Given the description of an element on the screen output the (x, y) to click on. 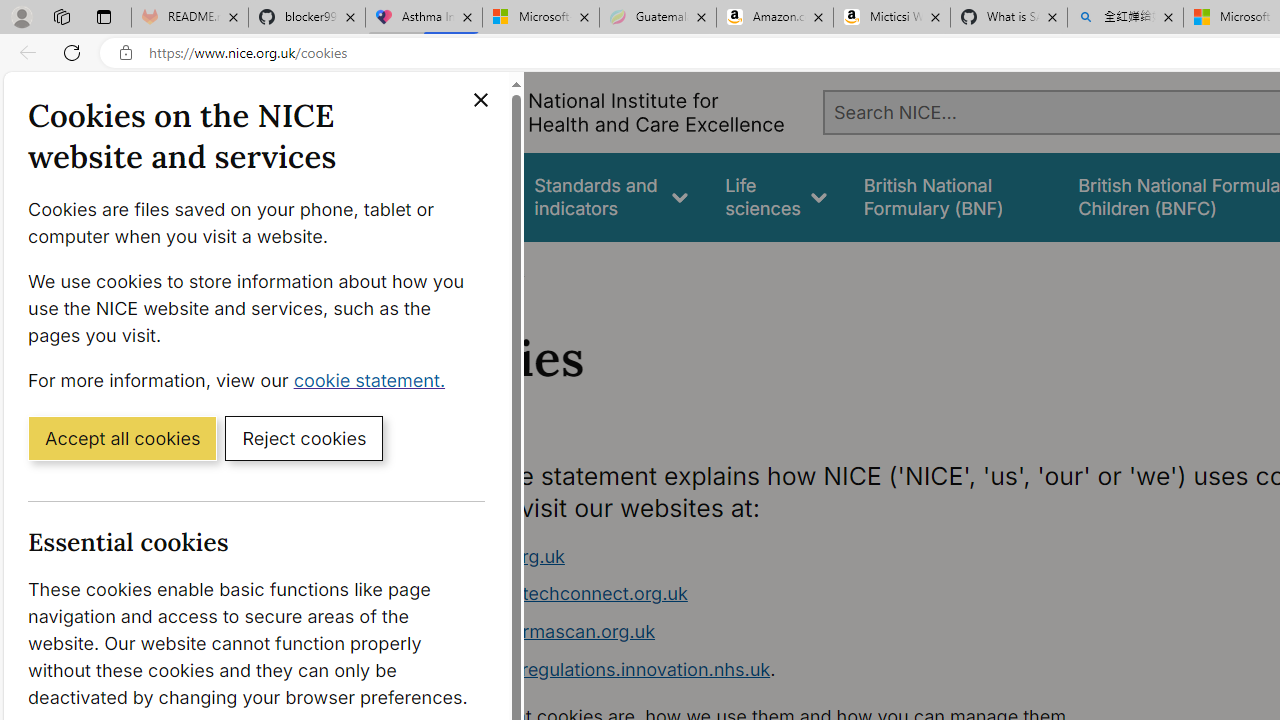
cookie statement. (Opens in a new window) (373, 379)
www.ukpharmascan.org.uk (538, 631)
Life sciences (776, 196)
www.digitalregulations.innovation.nhs.uk (595, 668)
Guidance (458, 196)
www.nice.org.uk (492, 556)
